Given the description of an element on the screen output the (x, y) to click on. 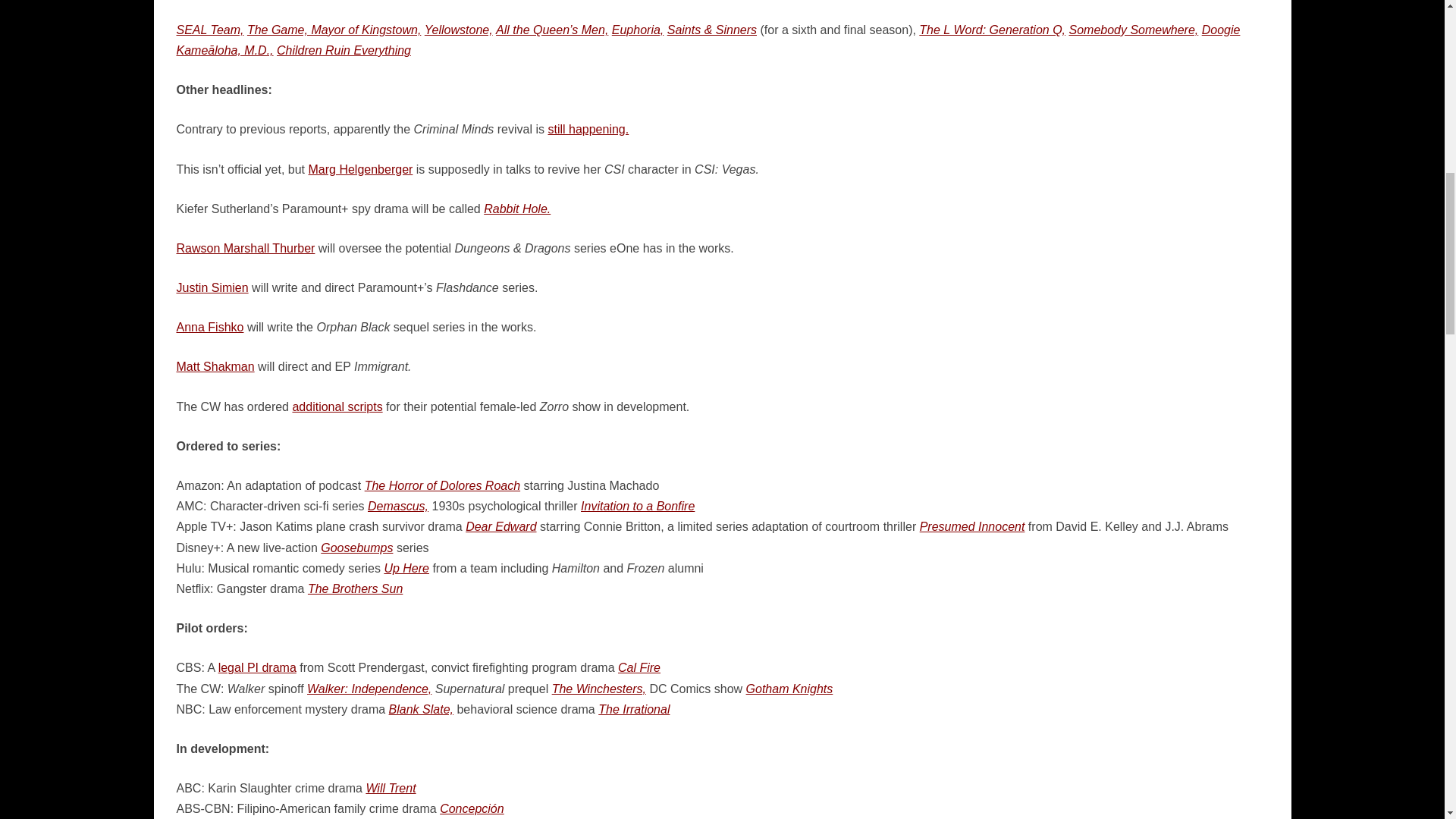
Euphoria, (637, 29)
The L Word: Generation Q, (991, 29)
Children Ruin Everything (343, 50)
The Game, Mayor of Kingstown, (333, 29)
SEAL Team, (209, 29)
Yellowstone, (459, 29)
Somebody Somewhere, (1133, 29)
